Given the description of an element on the screen output the (x, y) to click on. 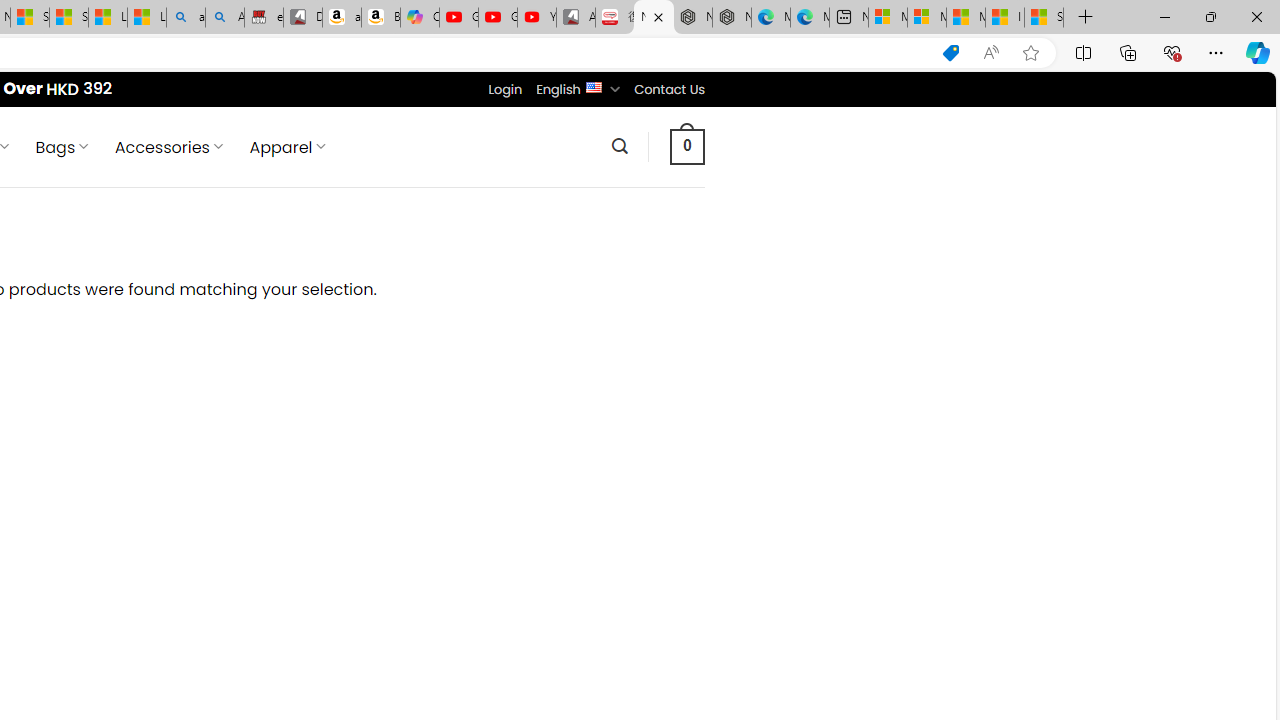
All Cubot phones (575, 17)
I Gained 20 Pounds of Muscle in 30 Days! | Watch (1004, 17)
Copilot (419, 17)
This site has coupons! Shopping in Microsoft Edge (950, 53)
Gloom - YouTube (497, 17)
  0   (687, 146)
